Given the description of an element on the screen output the (x, y) to click on. 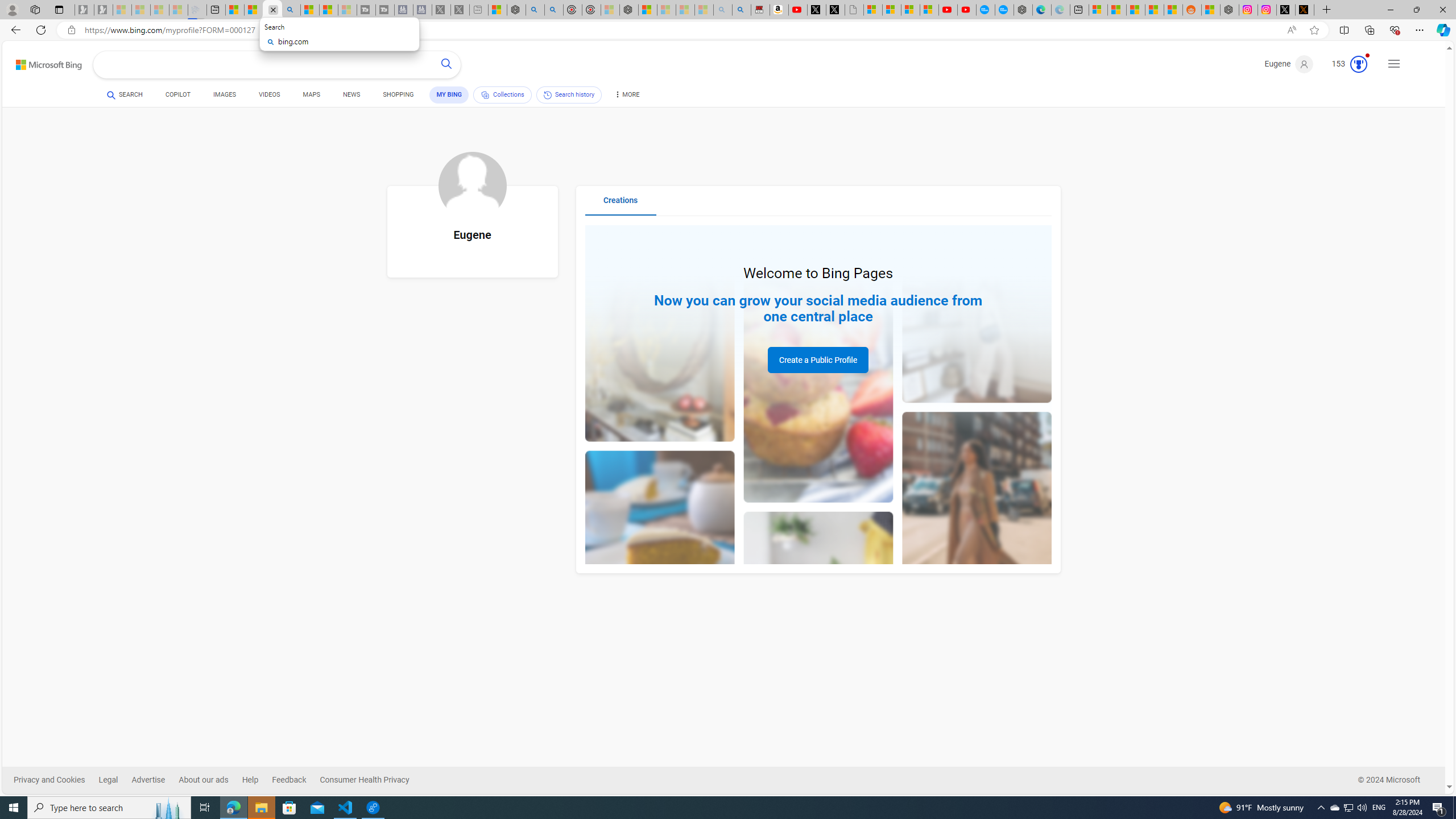
NEWS (350, 94)
Consumer Health Privacy (371, 780)
Gloom - YouTube (947, 9)
Shanghai, China weather forecast | Microsoft Weather (1116, 9)
Create a Public Profile (818, 360)
NEWS (350, 96)
X - Sleeping (459, 9)
IMAGES (224, 94)
